Given the description of an element on the screen output the (x, y) to click on. 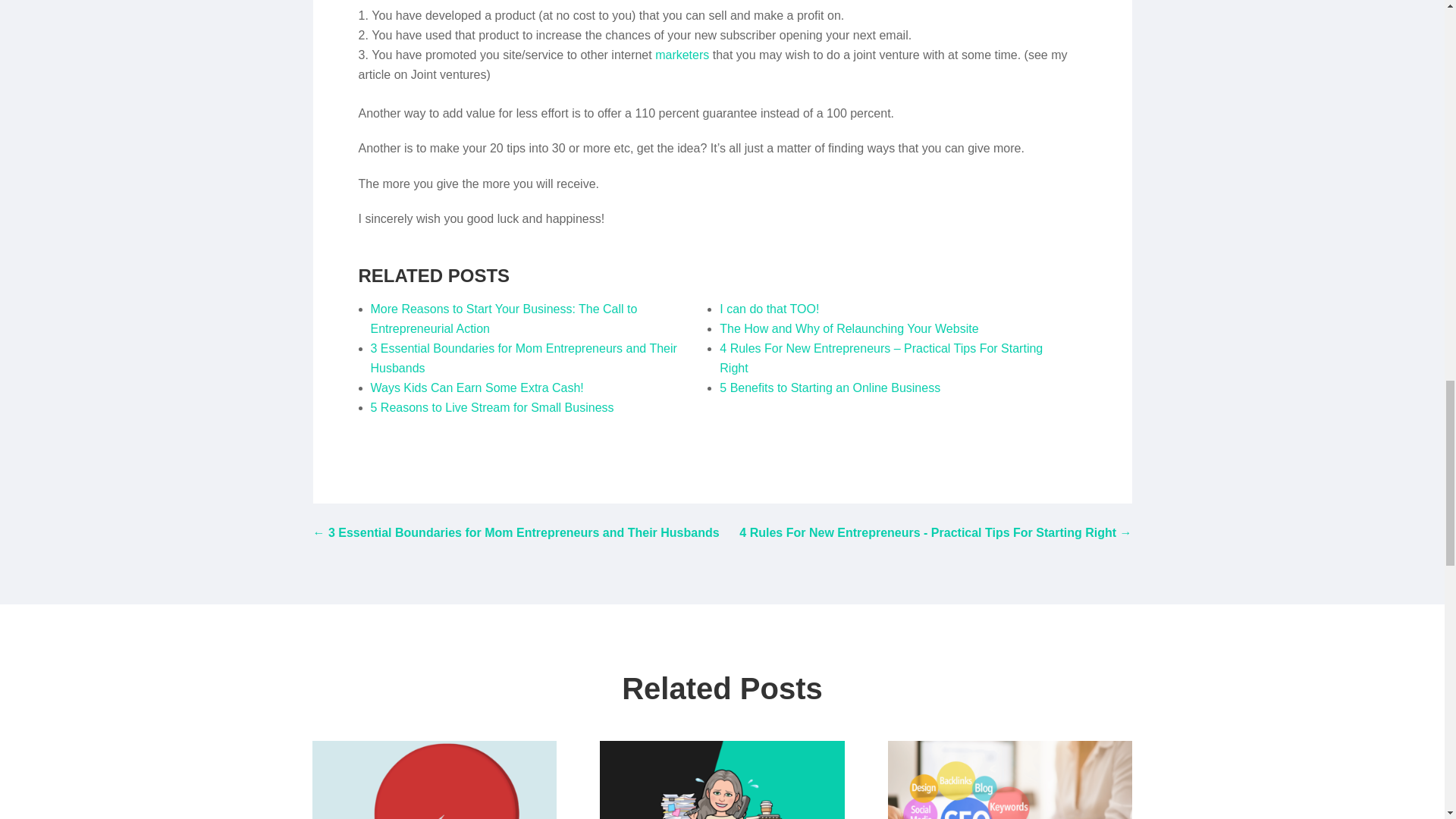
How to Not Waste Money on Marketing (682, 54)
marketers (682, 54)
